Given the description of an element on the screen output the (x, y) to click on. 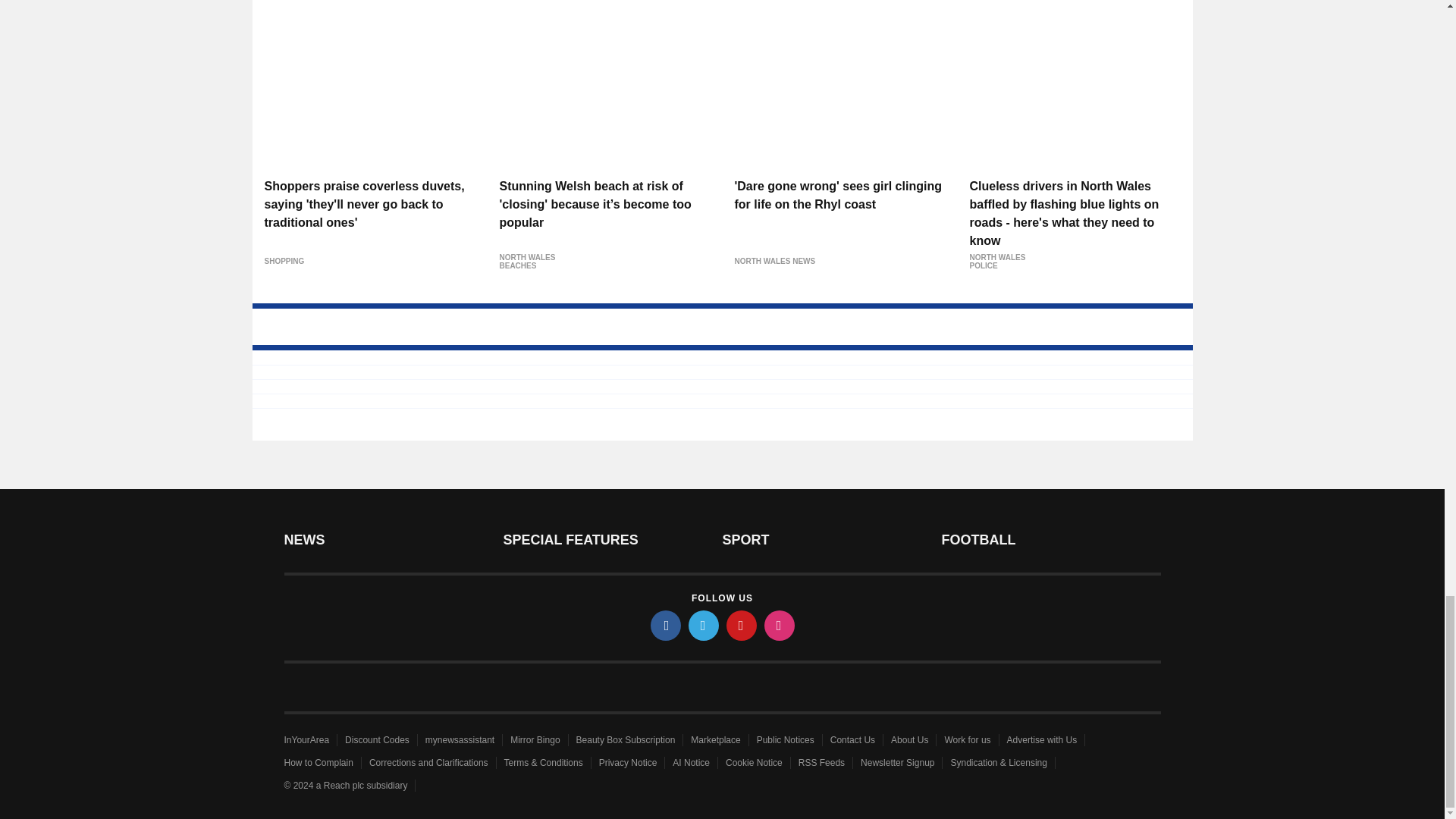
instagram (779, 625)
pinterest (741, 625)
facebook (665, 625)
twitter (703, 625)
